Given the description of an element on the screen output the (x, y) to click on. 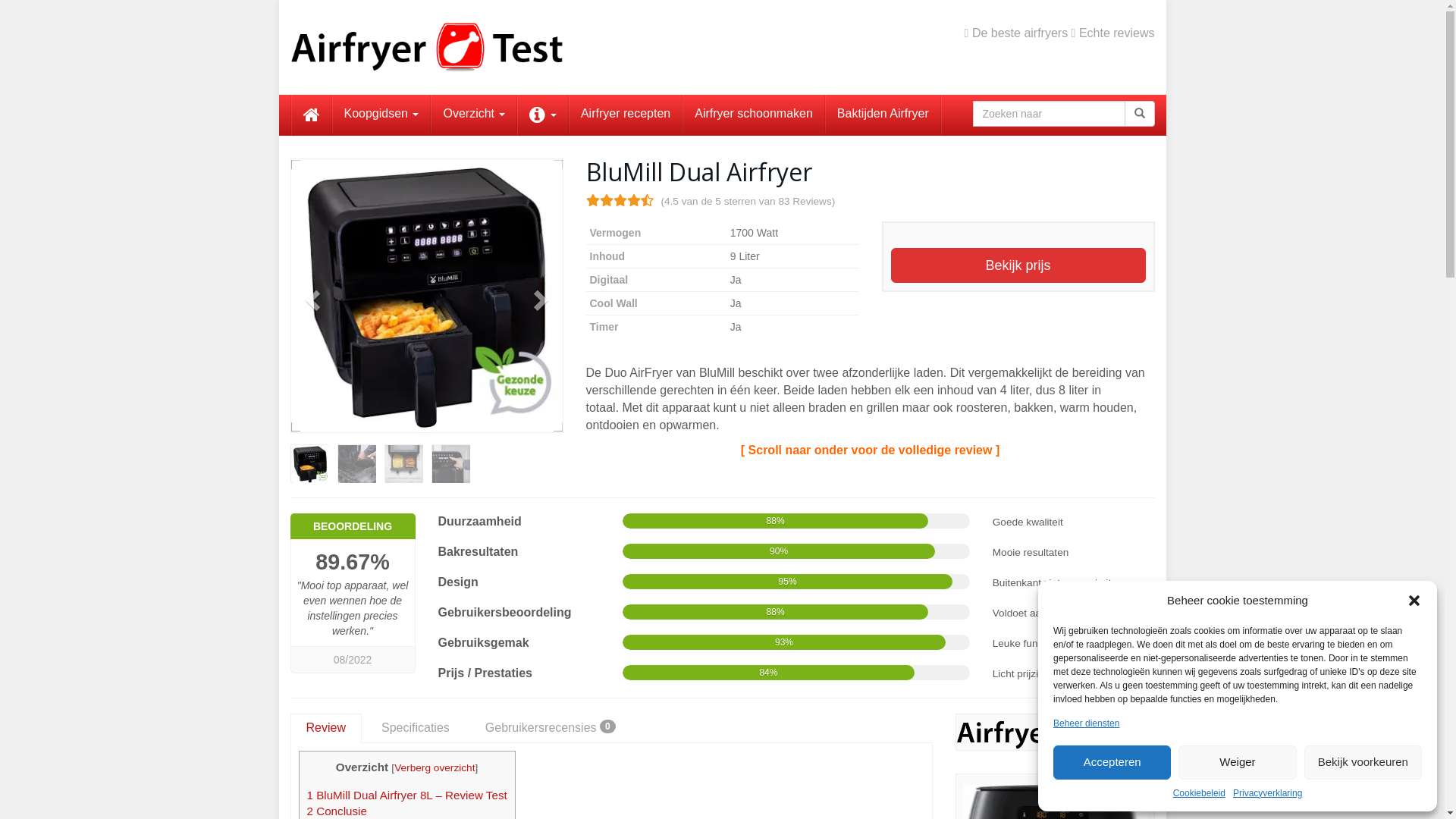
Specificaties Element type: text (415, 728)
Airfryer recepten Element type: text (625, 113)
Verberg overzicht Element type: text (434, 767)
Airfryer Test 2023 - De beste Airfryers Element type: hover (425, 47)
Airfryer schoonmaken Element type: text (753, 113)
Cookiebeleid Element type: text (1199, 793)
Weiger Element type: text (1236, 762)
Baktijden Airfryer Element type: text (882, 113)
Bekijk voorkeuren Element type: text (1362, 762)
airfryer Element type: hover (1055, 731)
Beheer diensten Element type: text (1086, 723)
Review Element type: text (324, 728)
Bekijk prijs Element type: text (1017, 264)
Privacyverklaring Element type: text (1267, 793)
4.5 van de 5 sterren van 83 Reviews Element type: hover (618, 200)
Overzicht Element type: text (473, 113)
Koopgidsen Element type: text (380, 113)
2 Conclusie Element type: text (336, 810)
Accepteren Element type: text (1111, 762)
Gebruikersrecensies 0 Element type: text (550, 728)
